Given the description of an element on the screen output the (x, y) to click on. 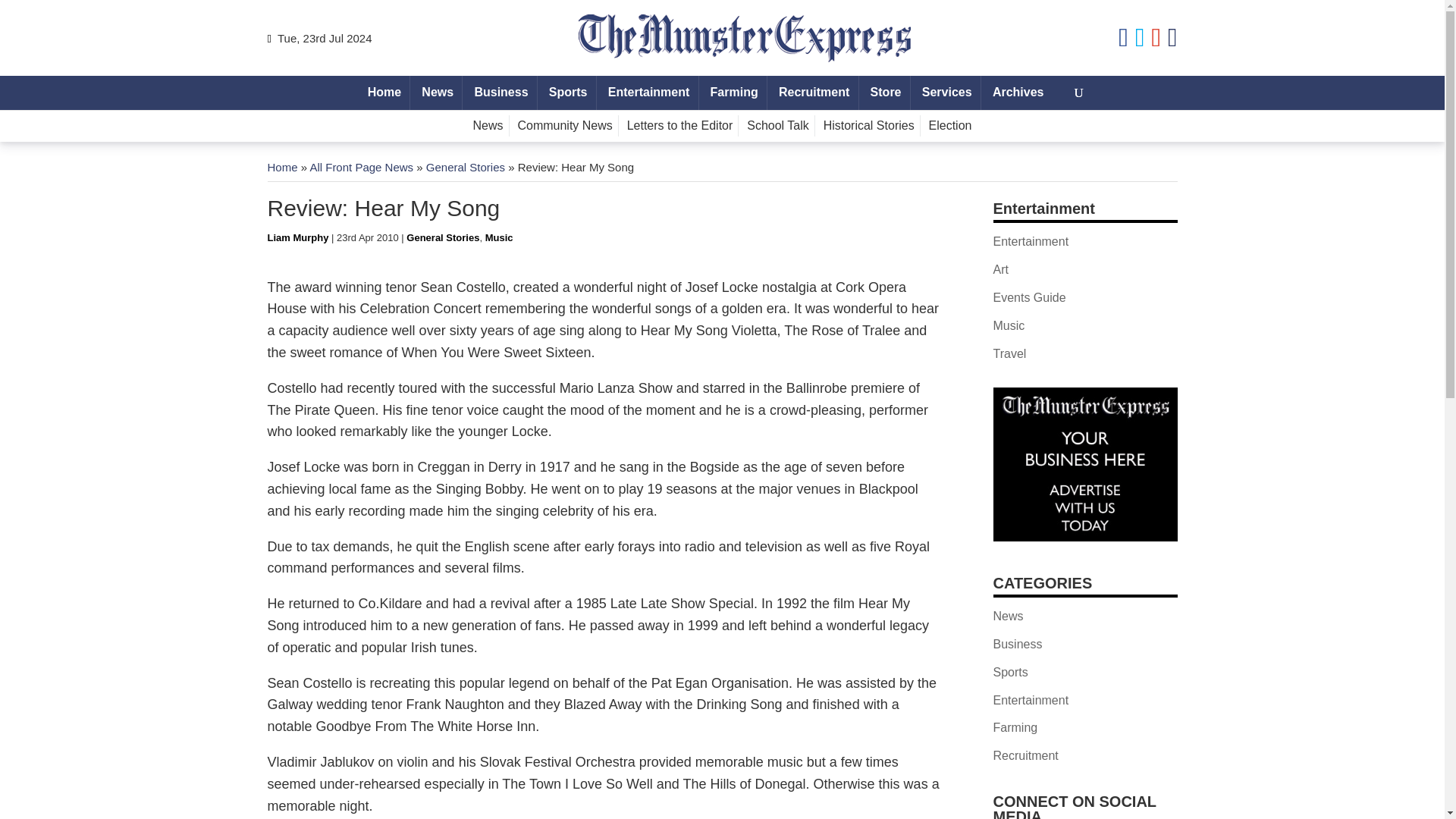
Home (383, 92)
Posts by Liam Murphy (297, 237)
News (437, 92)
Recruitment (814, 92)
Archives (1018, 92)
Business (501, 92)
Entertainment (648, 92)
Services (946, 92)
Sports (567, 92)
Store (884, 92)
Farming (734, 92)
